Given the description of an element on the screen output the (x, y) to click on. 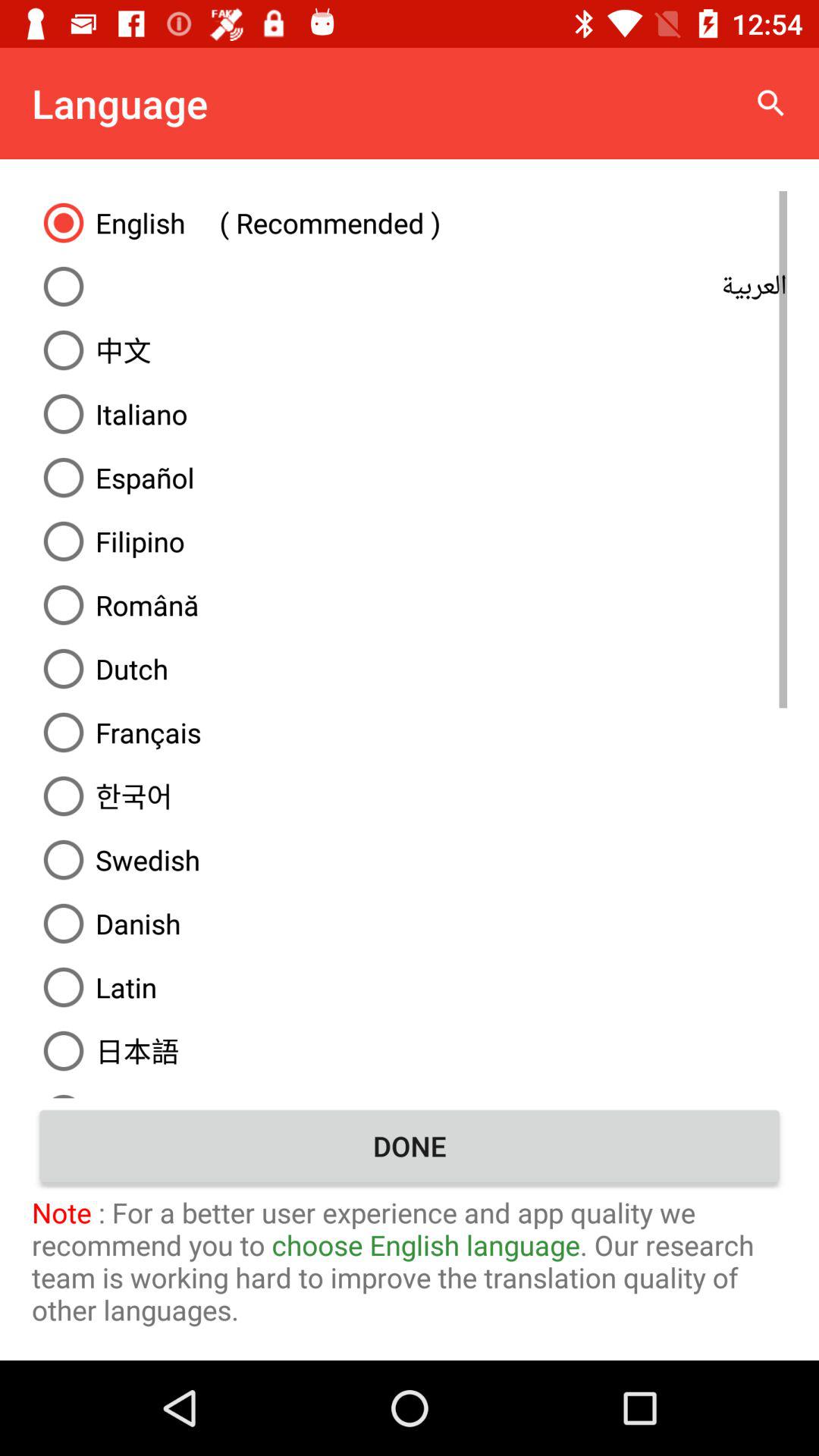
tap item above the danish icon (409, 859)
